Given the description of an element on the screen output the (x, y) to click on. 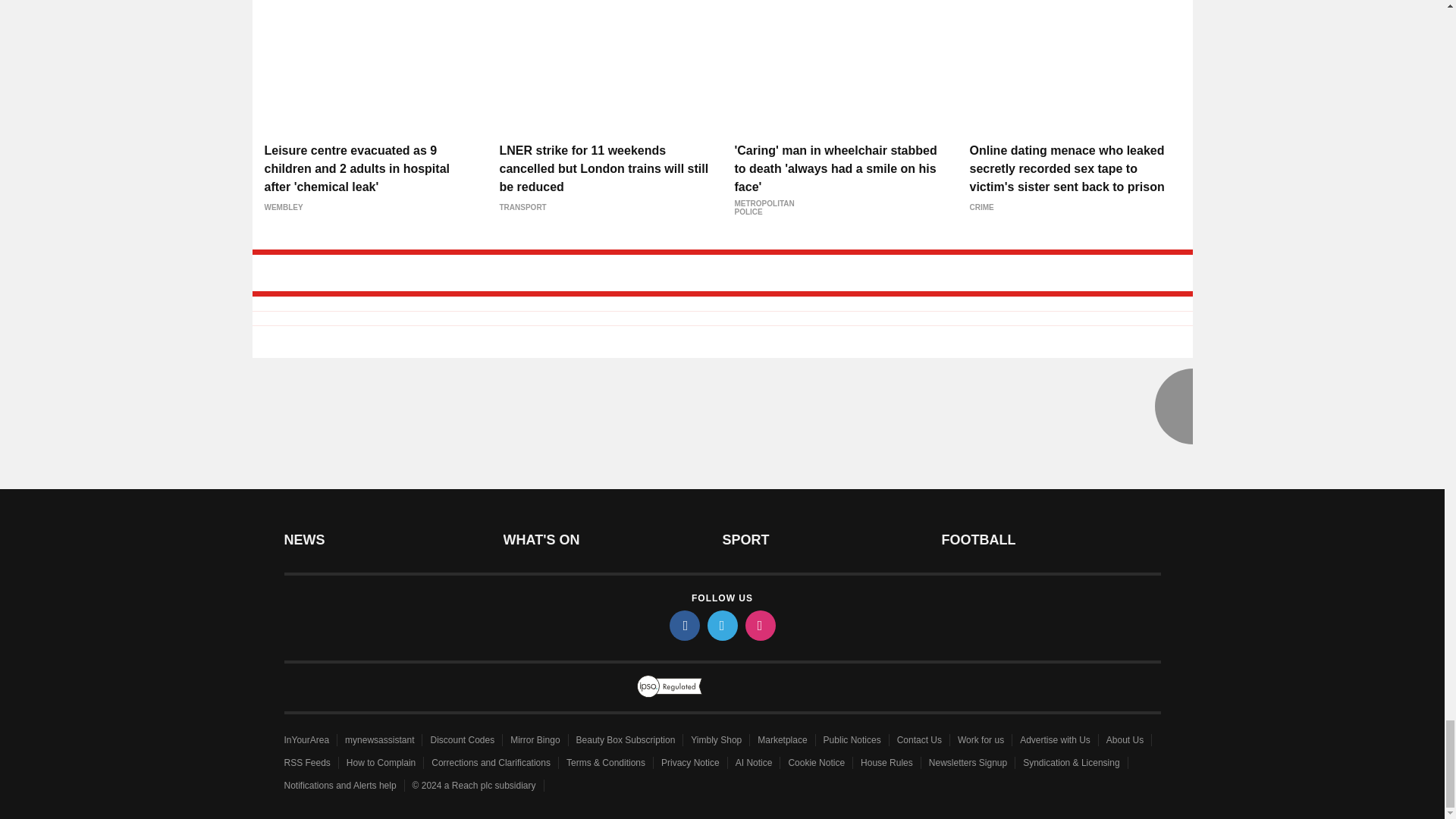
twitter (721, 625)
instagram (759, 625)
facebook (683, 625)
